Given the description of an element on the screen output the (x, y) to click on. 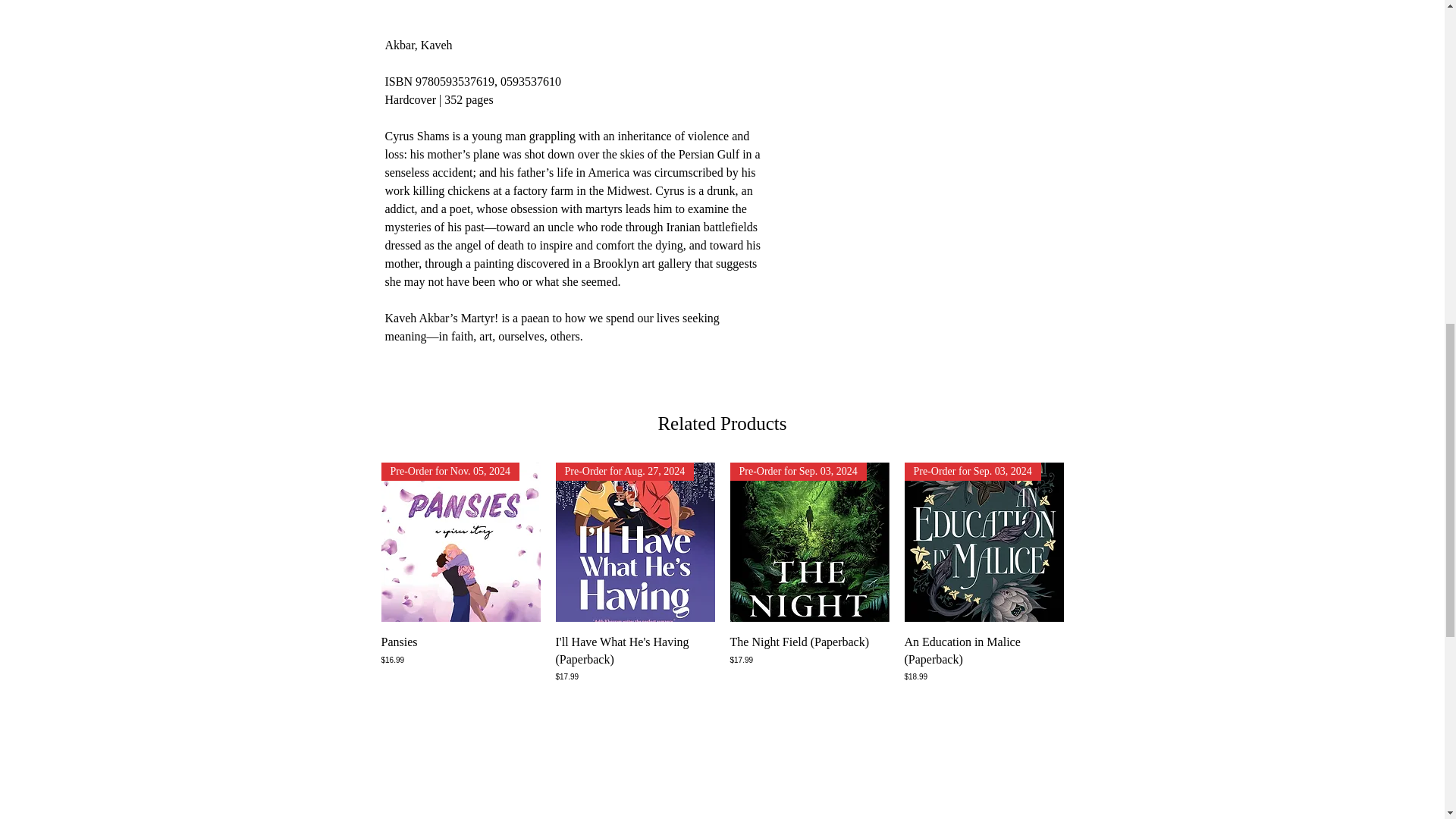
Pre-Order for Aug. 27, 2024 (634, 541)
Pre-Order for Sep. 03, 2024 (983, 541)
Pre-Order for Sep. 03, 2024 (808, 541)
Pre-Order for Nov. 05, 2024 (460, 541)
